Given the description of an element on the screen output the (x, y) to click on. 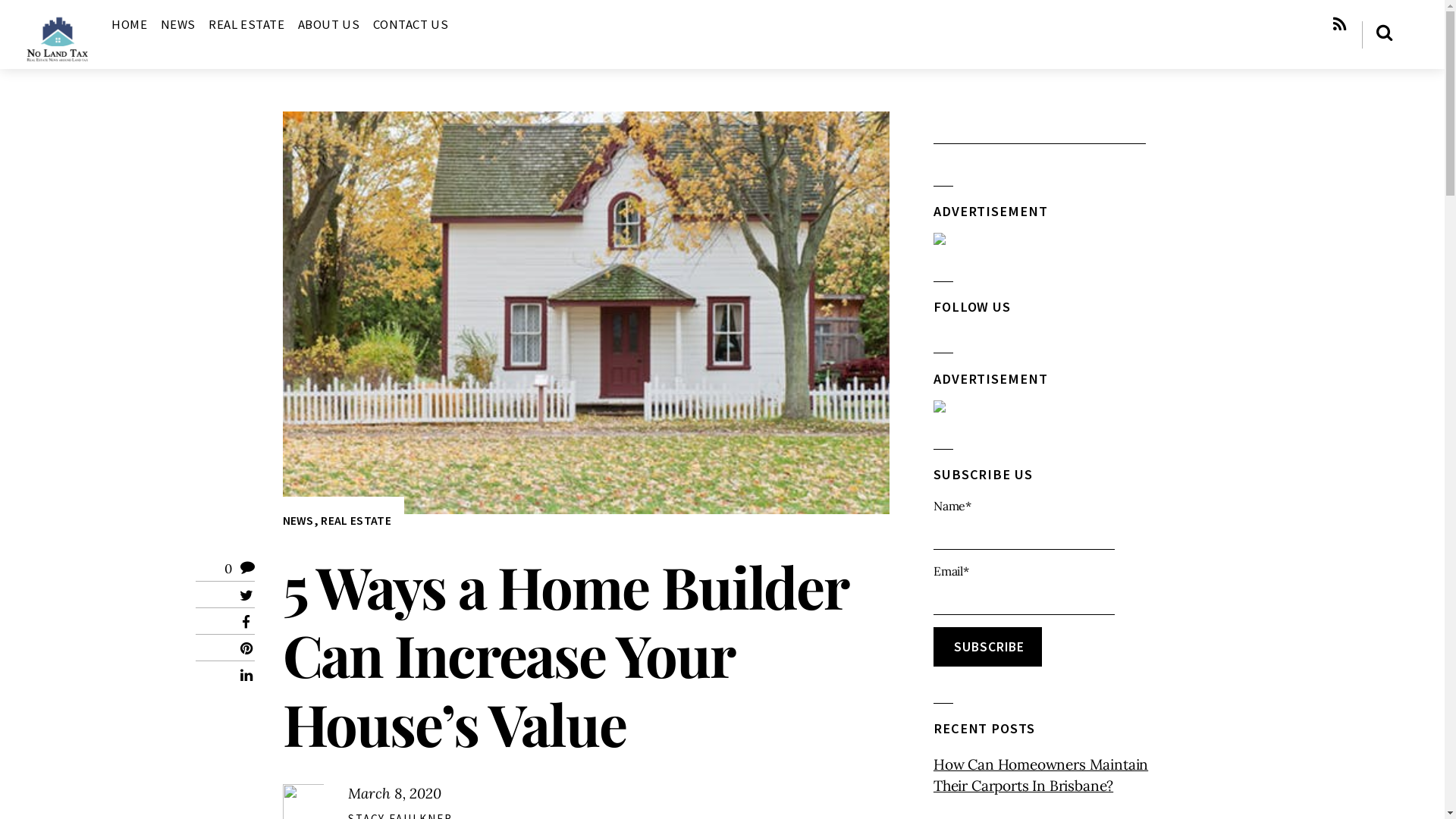
HOME Element type: text (129, 24)
LinkedIn Element type: hover (246, 675)
Search Element type: hover (1039, 130)
REAL ESTATE Element type: text (355, 520)
No Land Tax Element type: hover (58, 39)
CONTACT US Element type: text (410, 24)
REAL ESTATE Element type: text (246, 24)
How Can Homeowners Maintain Their Carports In Brisbane? Element type: text (1047, 774)
No Land Tax Element type: hover (58, 58)
Pinterest Element type: hover (246, 648)
Facebook Element type: hover (246, 621)
ABOUT US Element type: text (328, 24)
Twitter Element type: hover (246, 595)
Subscribe Element type: text (987, 646)
NEWS Element type: text (297, 520)
0 Element type: text (228, 568)
NEWS Element type: text (177, 24)
